Given the description of an element on the screen output the (x, y) to click on. 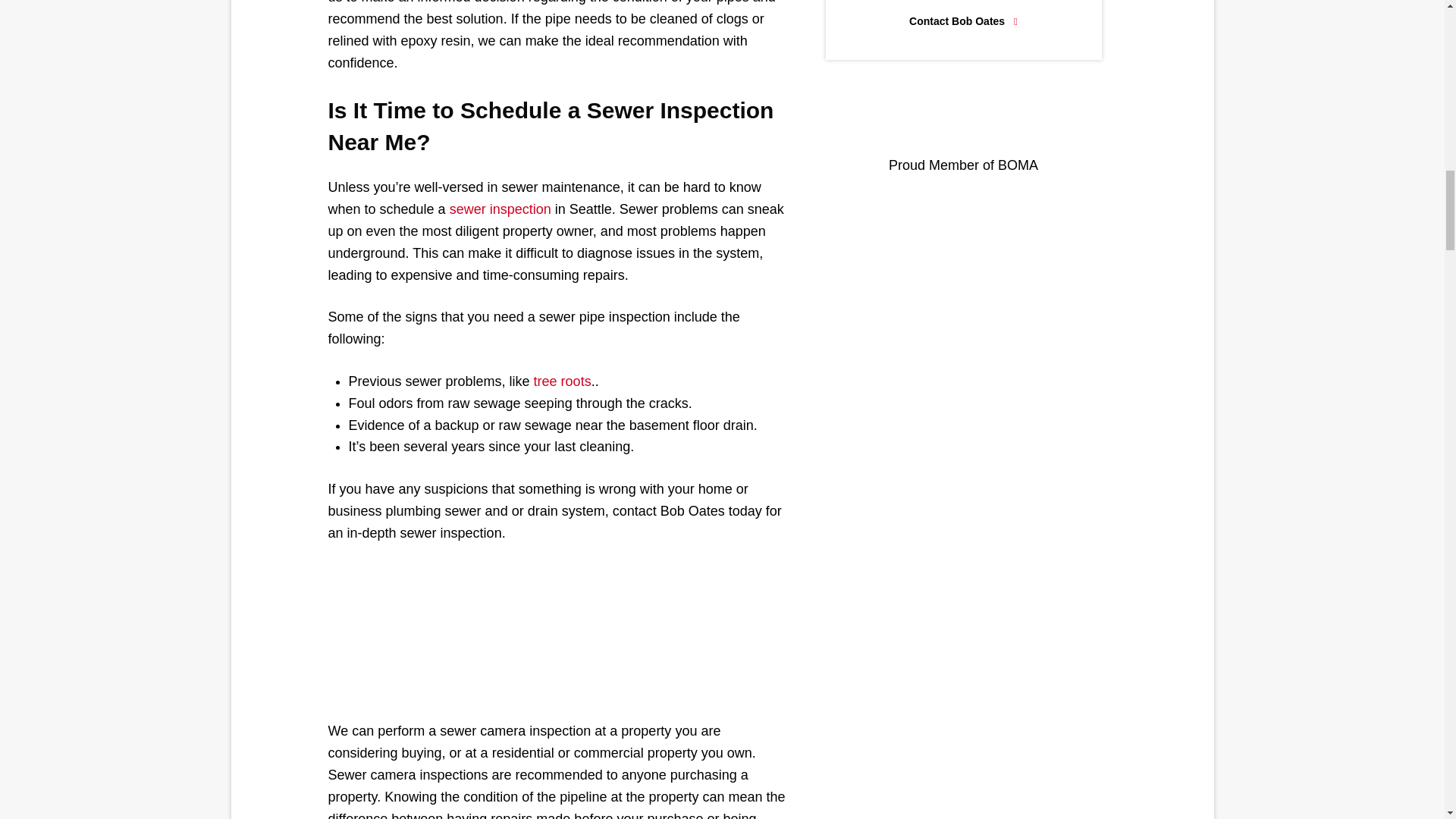
bob-oates-boma (963, 118)
